Given the description of an element on the screen output the (x, y) to click on. 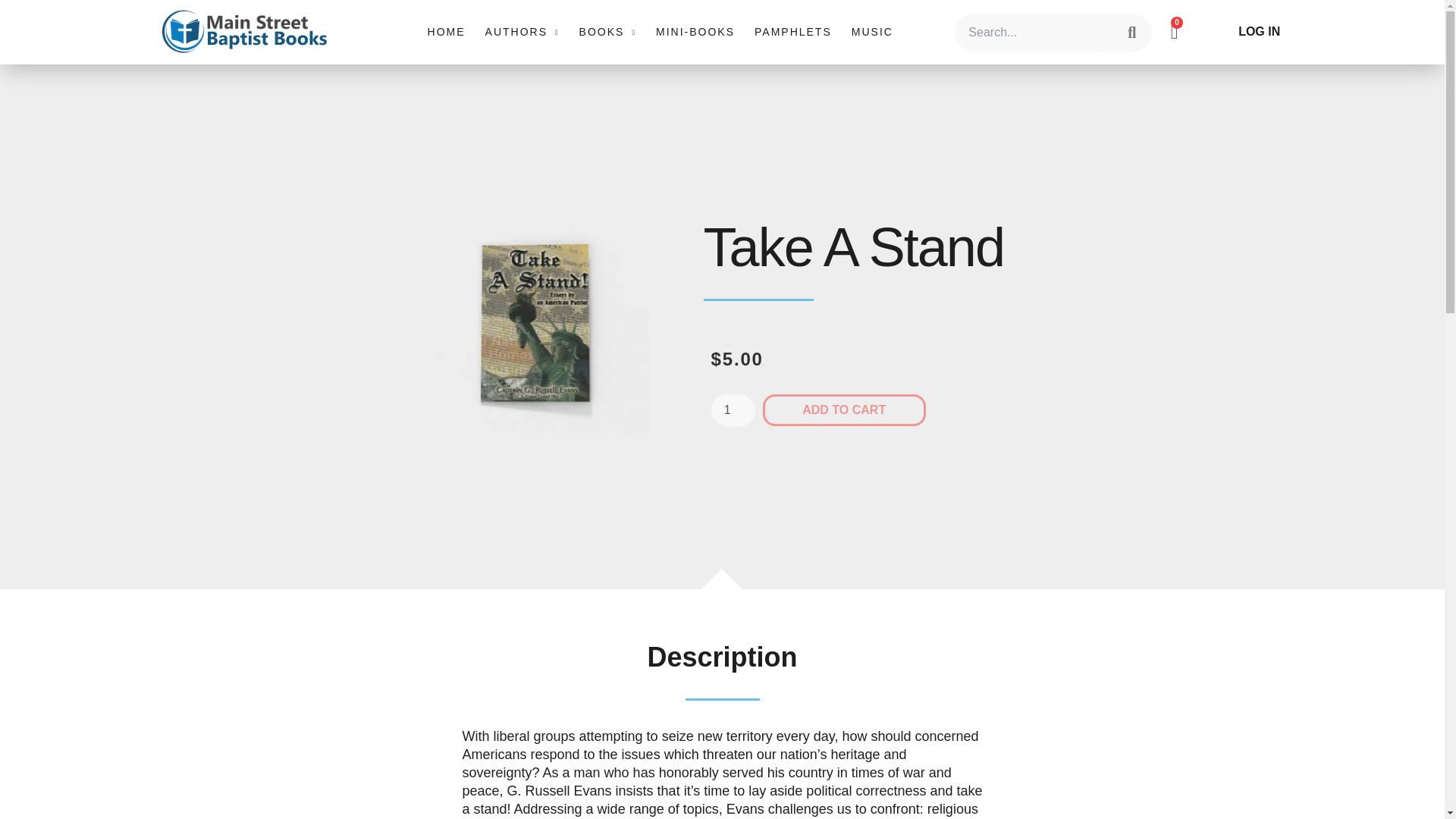
PAMPHLETS (792, 31)
MINI-BOOKS (695, 31)
HOME (446, 31)
1 (733, 409)
MUSIC (871, 31)
BOOKS (607, 31)
AUTHORS (522, 31)
